Given the description of an element on the screen output the (x, y) to click on. 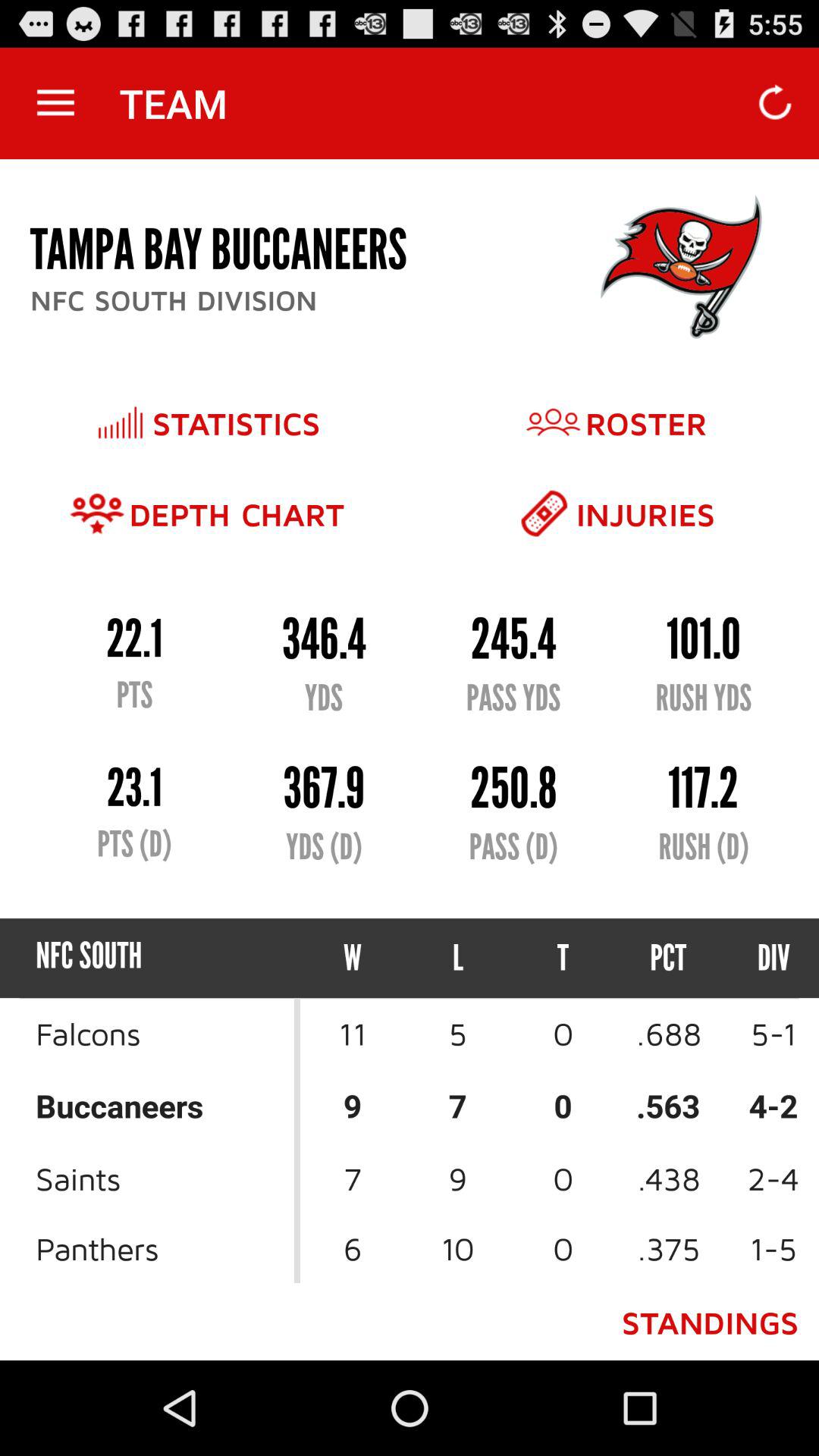
tap icon to the left of the team (55, 103)
